Given the description of an element on the screen output the (x, y) to click on. 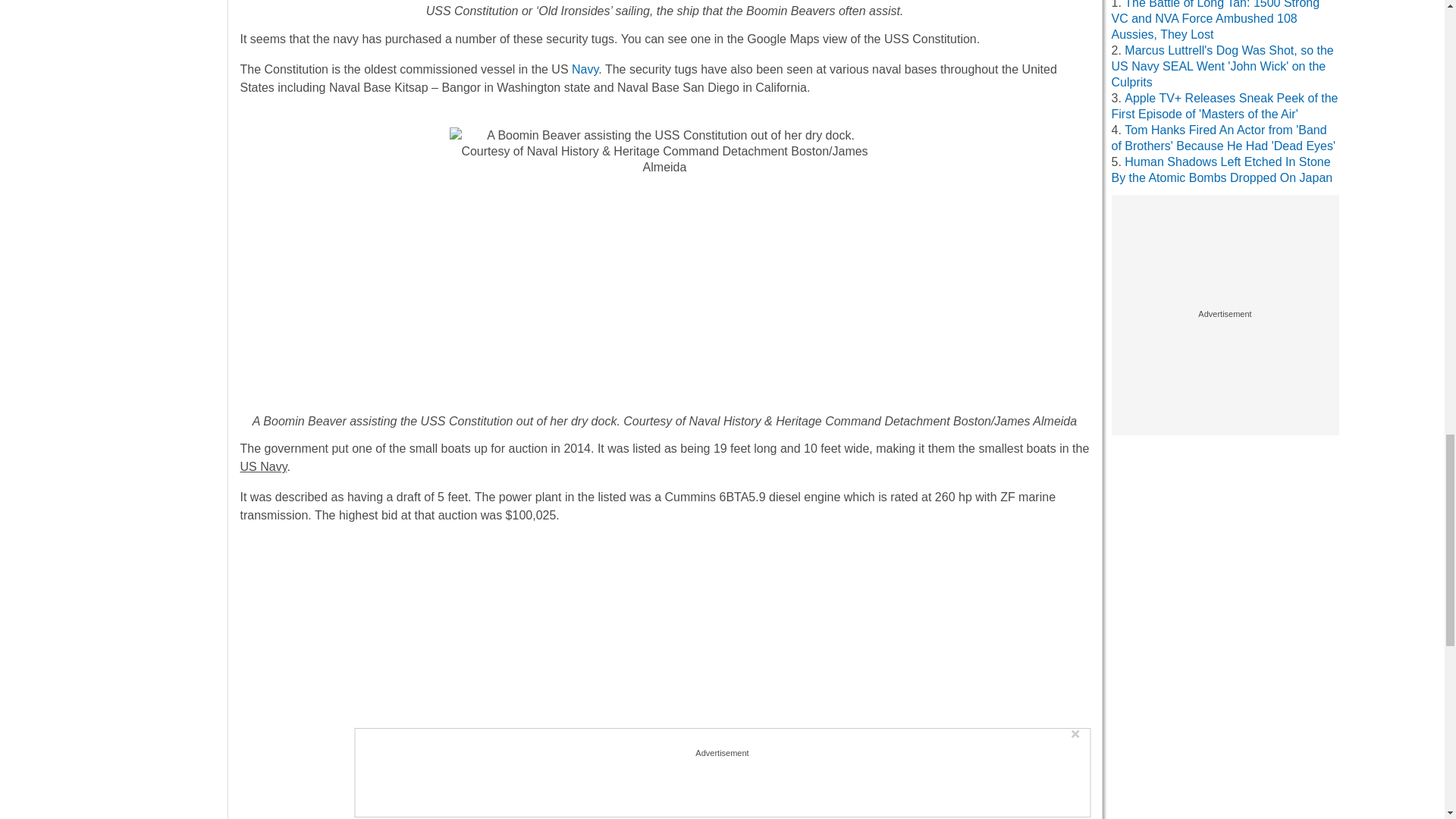
Little Boom Boat Display (664, 678)
